Given the description of an element on the screen output the (x, y) to click on. 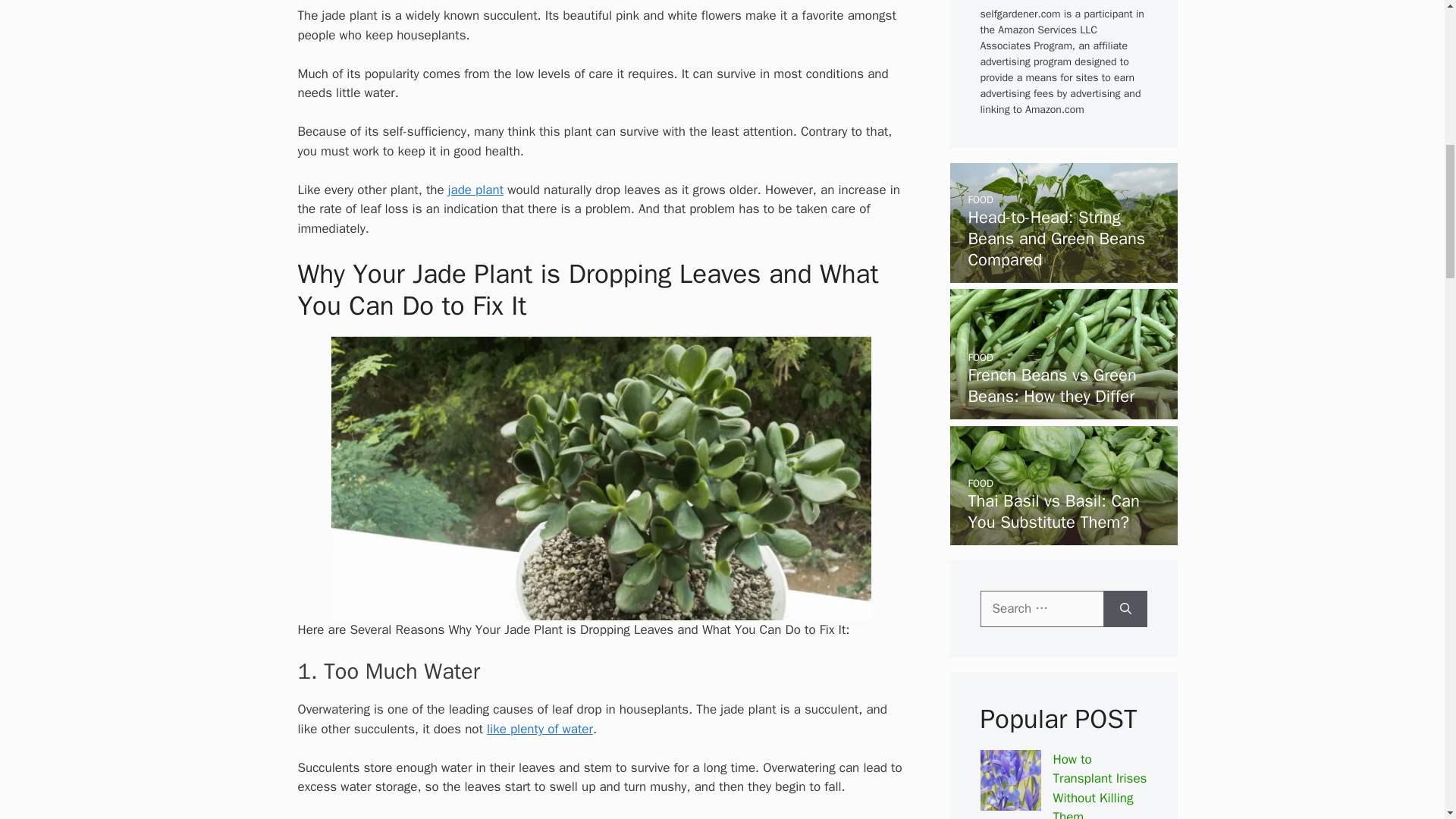
like plenty of water (539, 729)
Head-to-Head: String Beans and Green Beans Compared (1056, 239)
jade plant (475, 189)
